Given the description of an element on the screen output the (x, y) to click on. 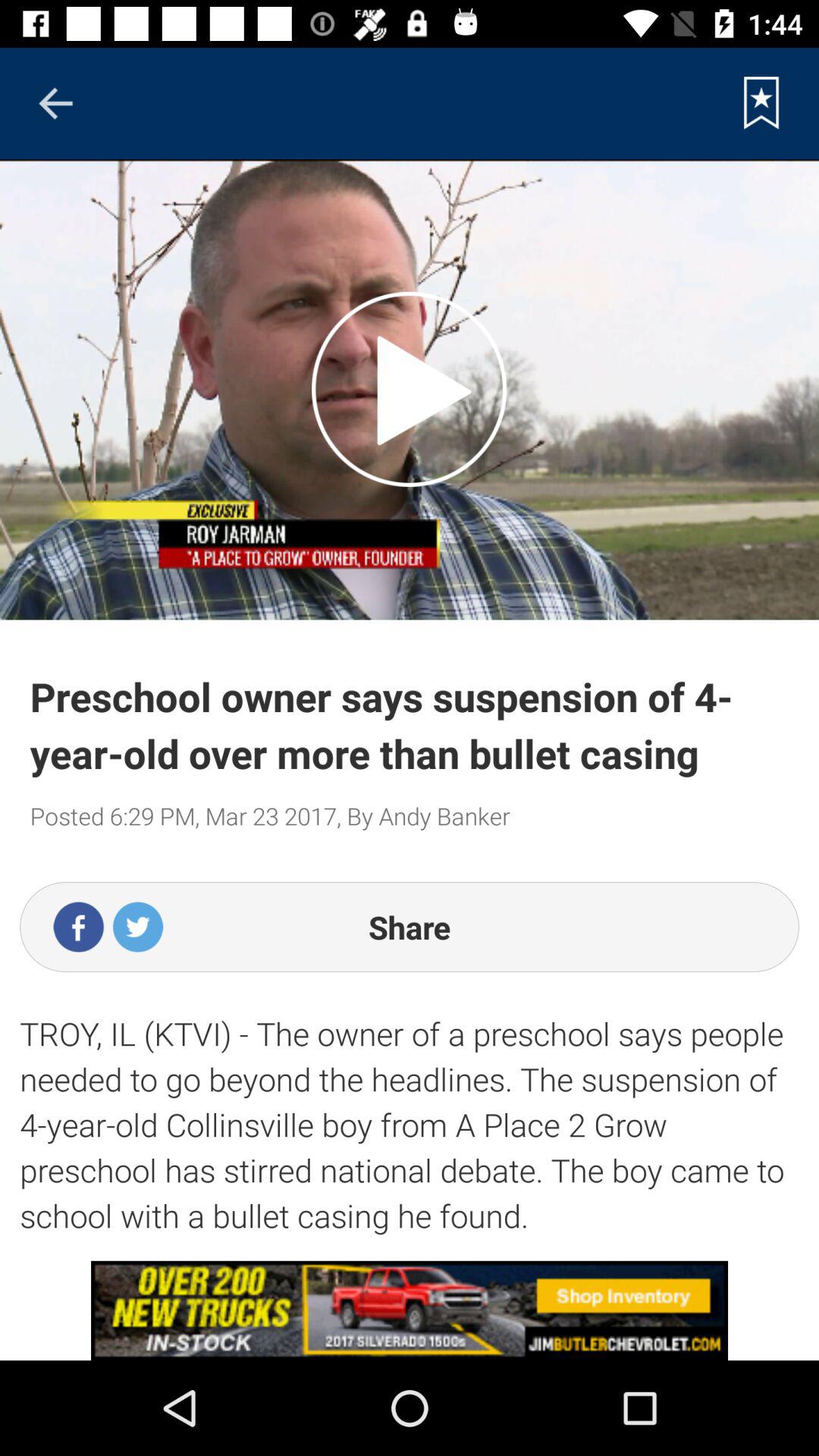
go back (55, 103)
